Given the description of an element on the screen output the (x, y) to click on. 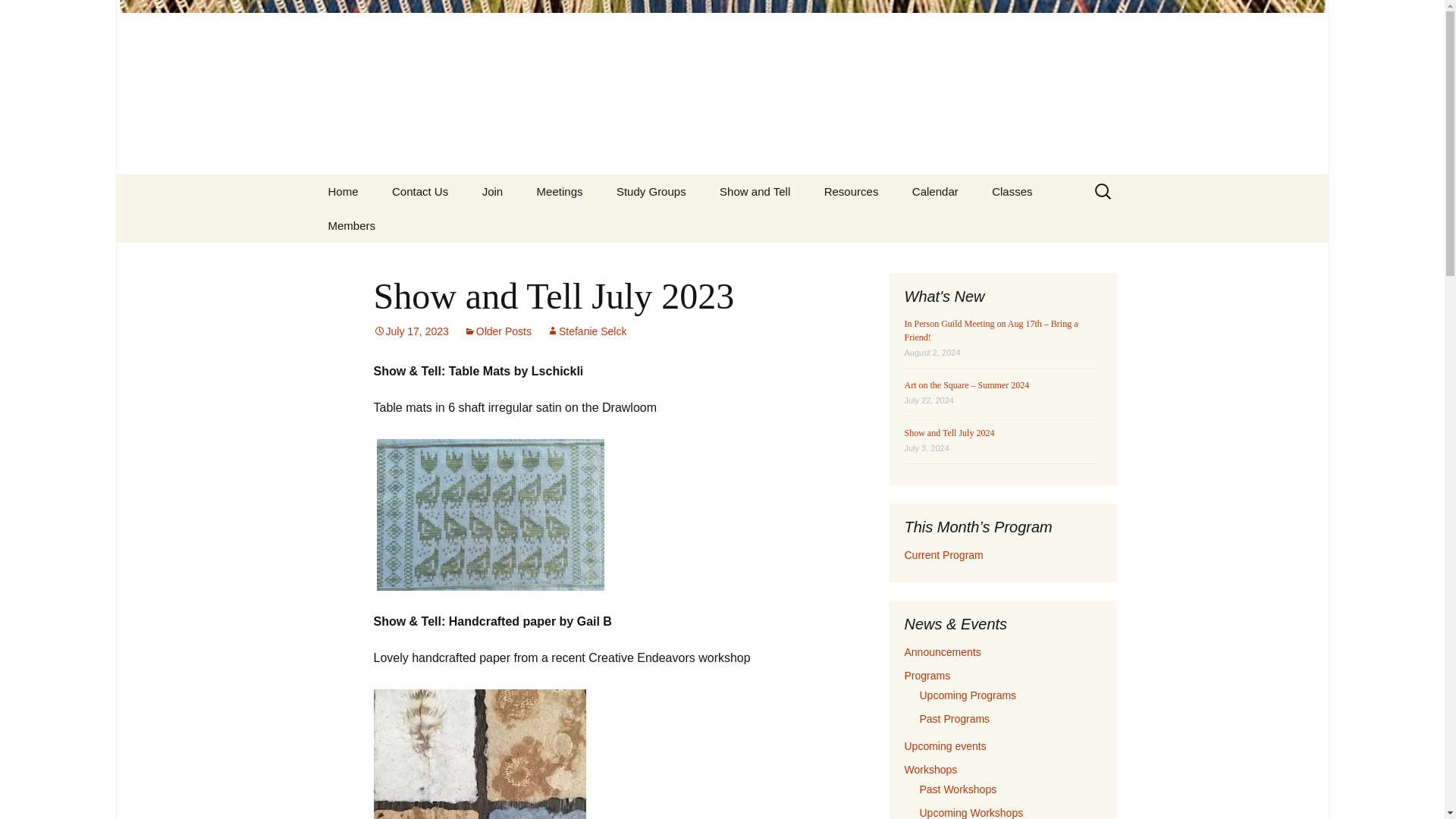
Programs (596, 225)
Resources (851, 191)
Creative Endeavors Study Group (676, 230)
Classes (1011, 191)
Permalink to Show and Tell July 2023 (410, 331)
Meetings (559, 191)
Contact Us (420, 191)
Show and Tell (754, 191)
View all posts by Stefanie Selck (587, 331)
